Given the description of an element on the screen output the (x, y) to click on. 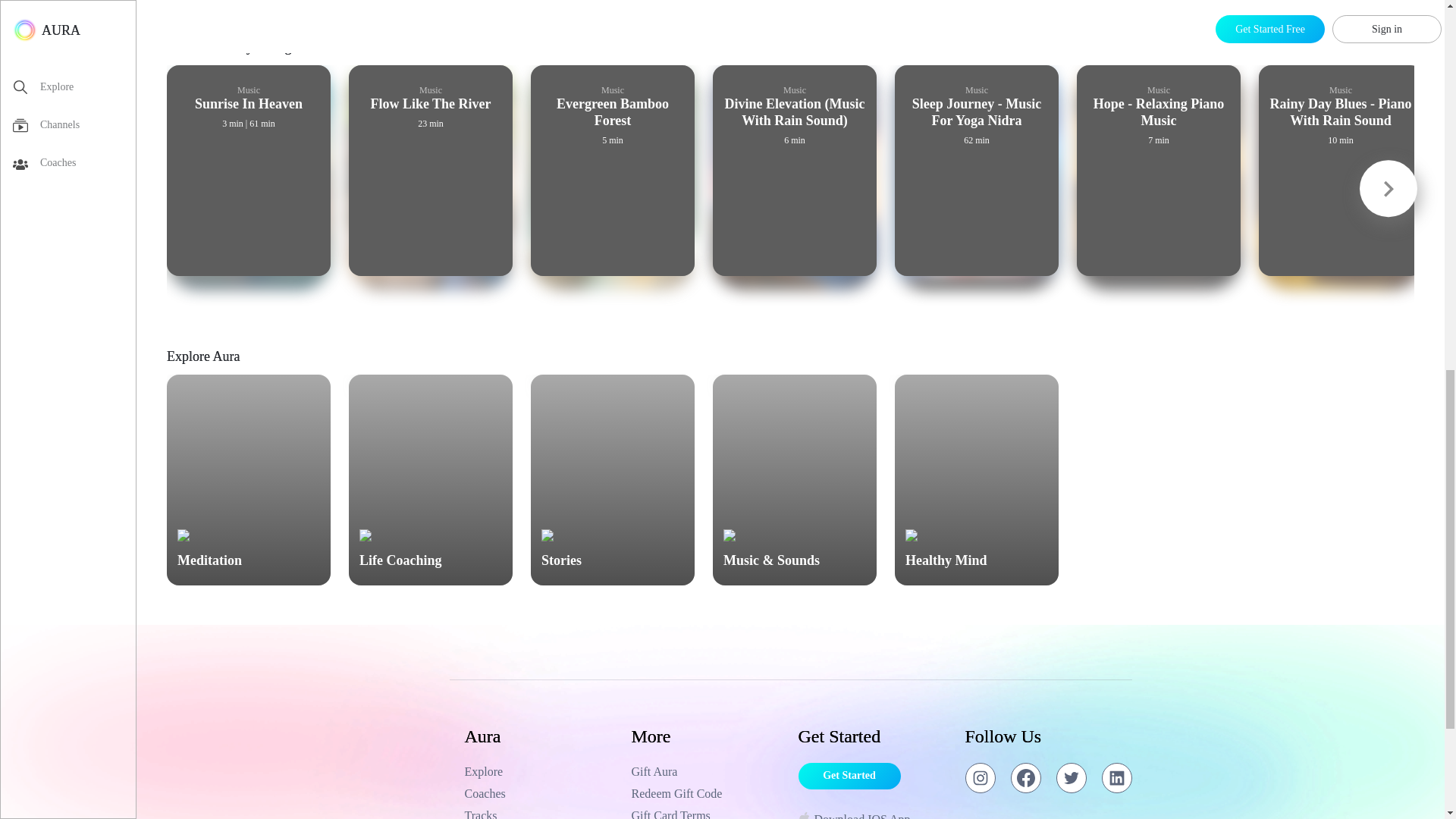
Explore (539, 771)
Tracks (539, 812)
Gift Card Terms (706, 812)
Gift Aura (706, 771)
Redeem Gift Code (706, 793)
Coaches (539, 793)
View All (1392, 51)
